Given the description of an element on the screen output the (x, y) to click on. 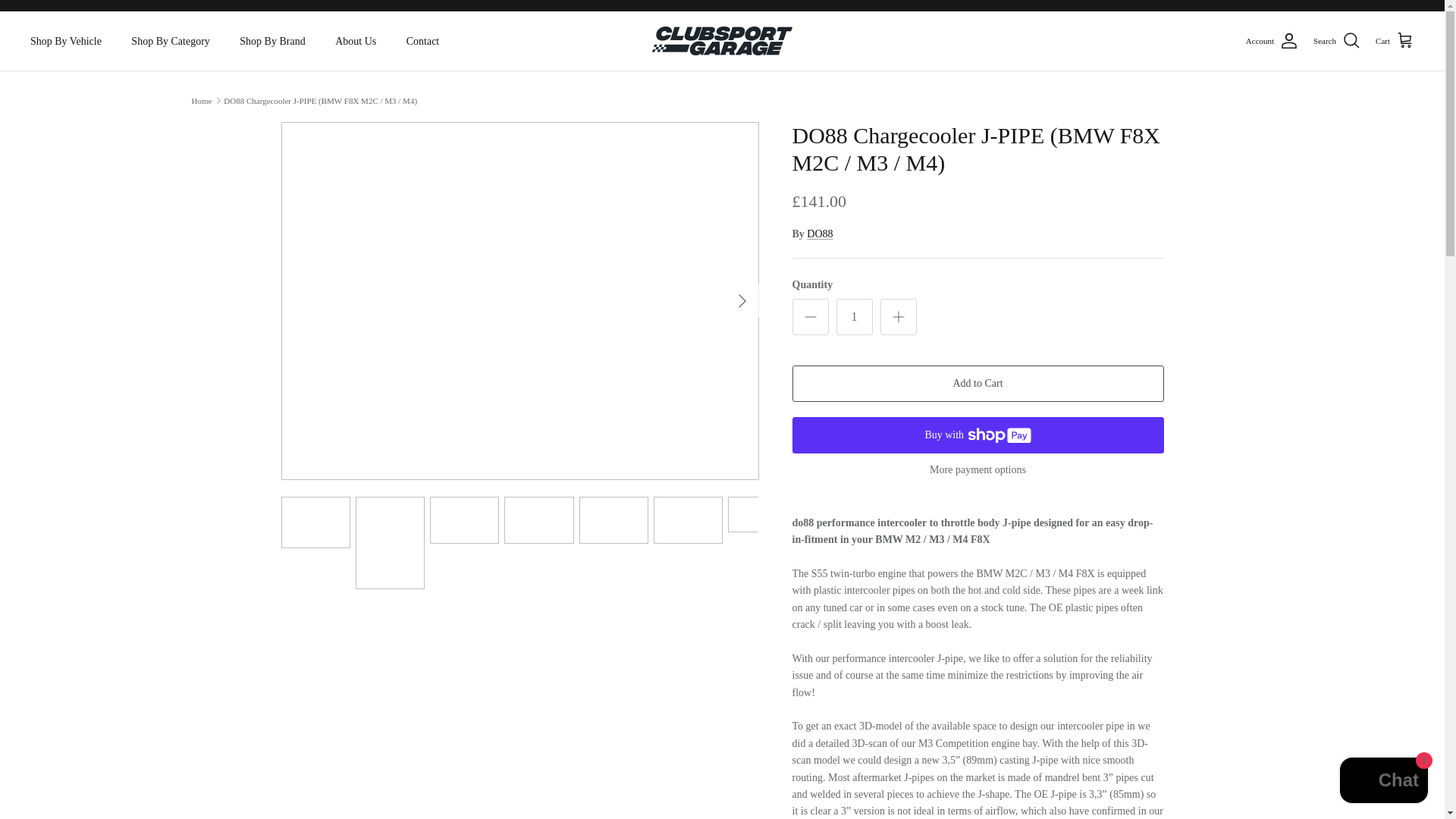
Right (741, 300)
Shop By Vehicle (65, 41)
About Us (355, 41)
Plus (897, 316)
Shop By Brand (271, 41)
Search (1336, 40)
Shopify online store chat (1383, 781)
1 (853, 316)
Contact (422, 41)
Cart (1394, 40)
Account (1272, 40)
Clubsport Garage (722, 40)
Minus (809, 316)
Shop By Category (169, 41)
